Given the description of an element on the screen output the (x, y) to click on. 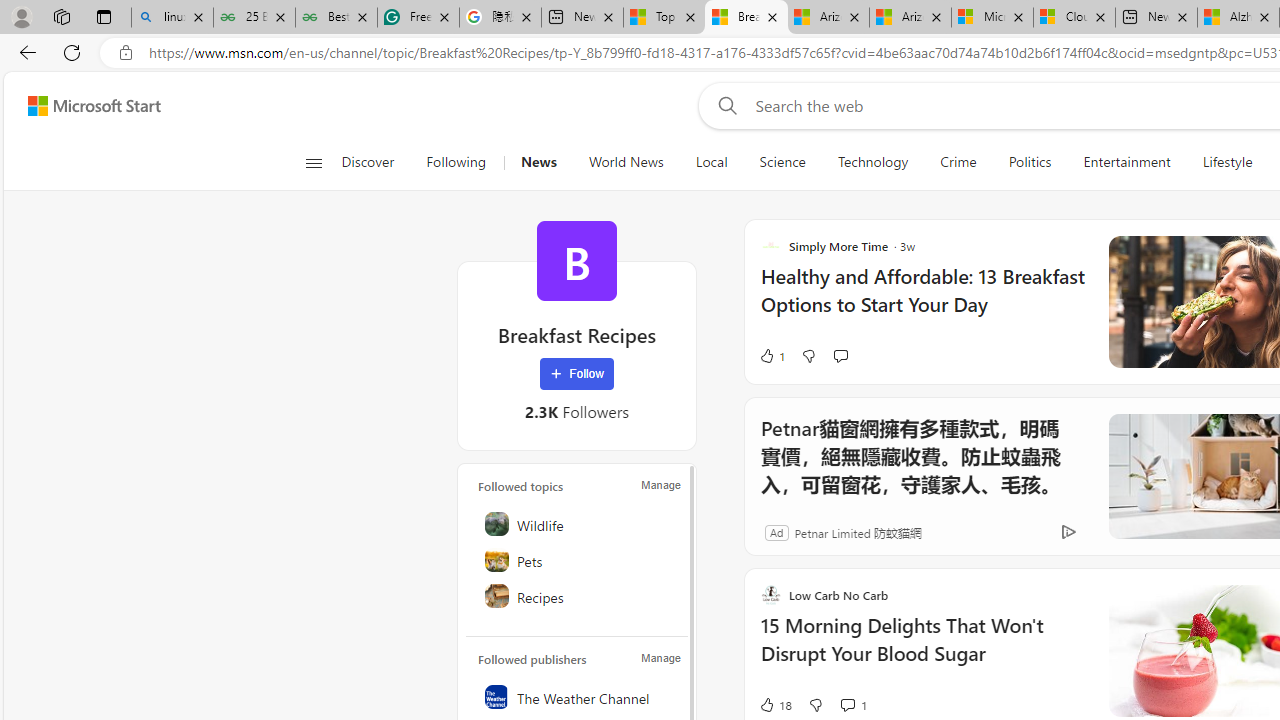
Manage (660, 657)
Politics (1029, 162)
Best SSL Certificates Provider in India - GeeksforGeeks (336, 17)
World News (625, 162)
Politics (1030, 162)
View comments 1 Comment (852, 704)
